Given the description of an element on the screen output the (x, y) to click on. 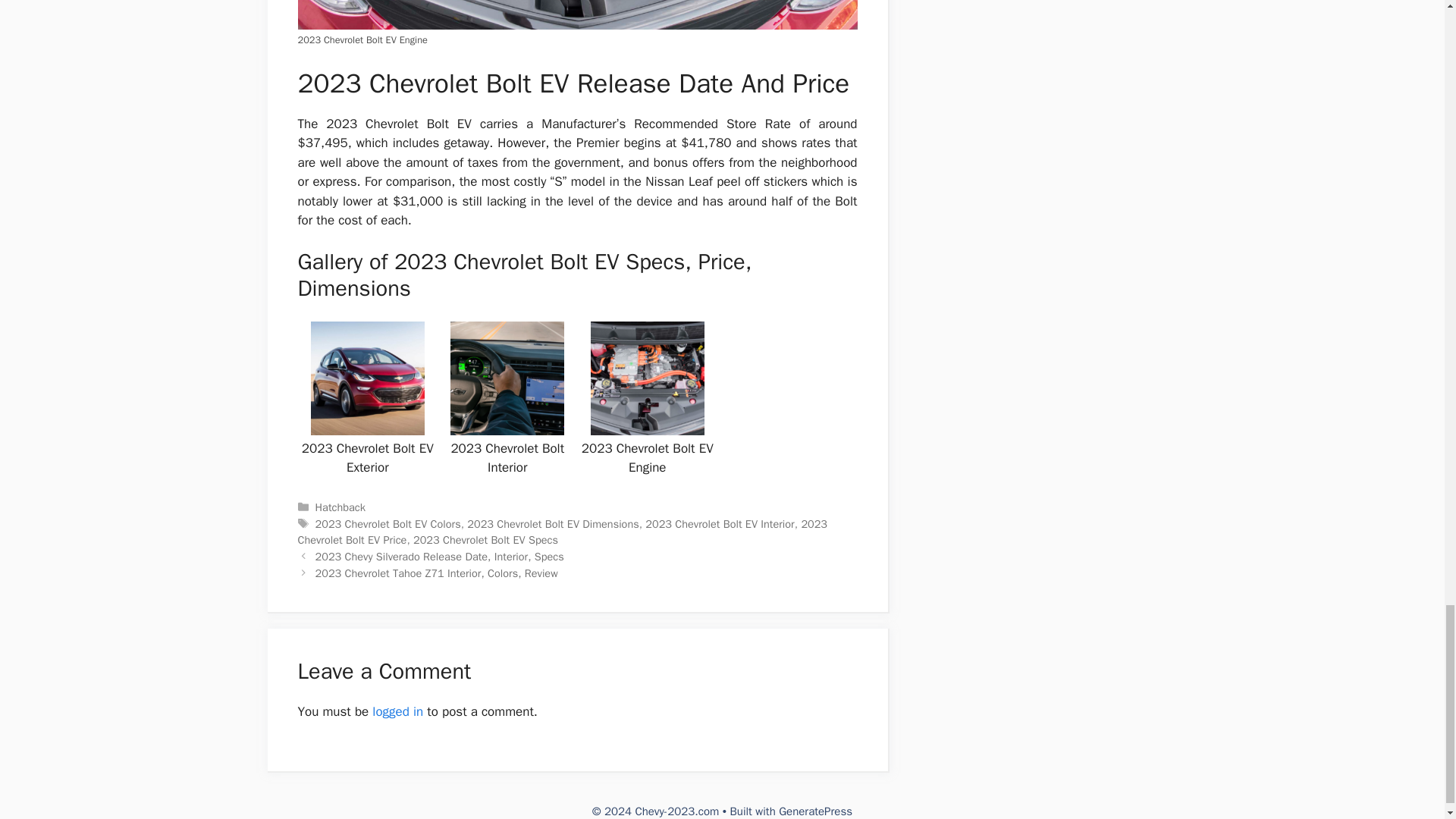
2023 Chevrolet Bolt EV Dimensions (553, 523)
2023 Chevrolet Bolt EV Interior (719, 523)
GeneratePress (814, 811)
2023 Chevrolet Bolt EV Colors (388, 523)
logged in (397, 711)
Next (436, 572)
2023 Chevrolet Bolt EV Price (562, 531)
2023 Chevrolet Bolt EV Specs (485, 540)
2023 Chevy Silverado Release Date, Interior, Specs (439, 556)
Previous (439, 556)
2023 Chevrolet Tahoe Z71 Interior, Colors, Review (436, 572)
Hatchback (340, 507)
